Given the description of an element on the screen output the (x, y) to click on. 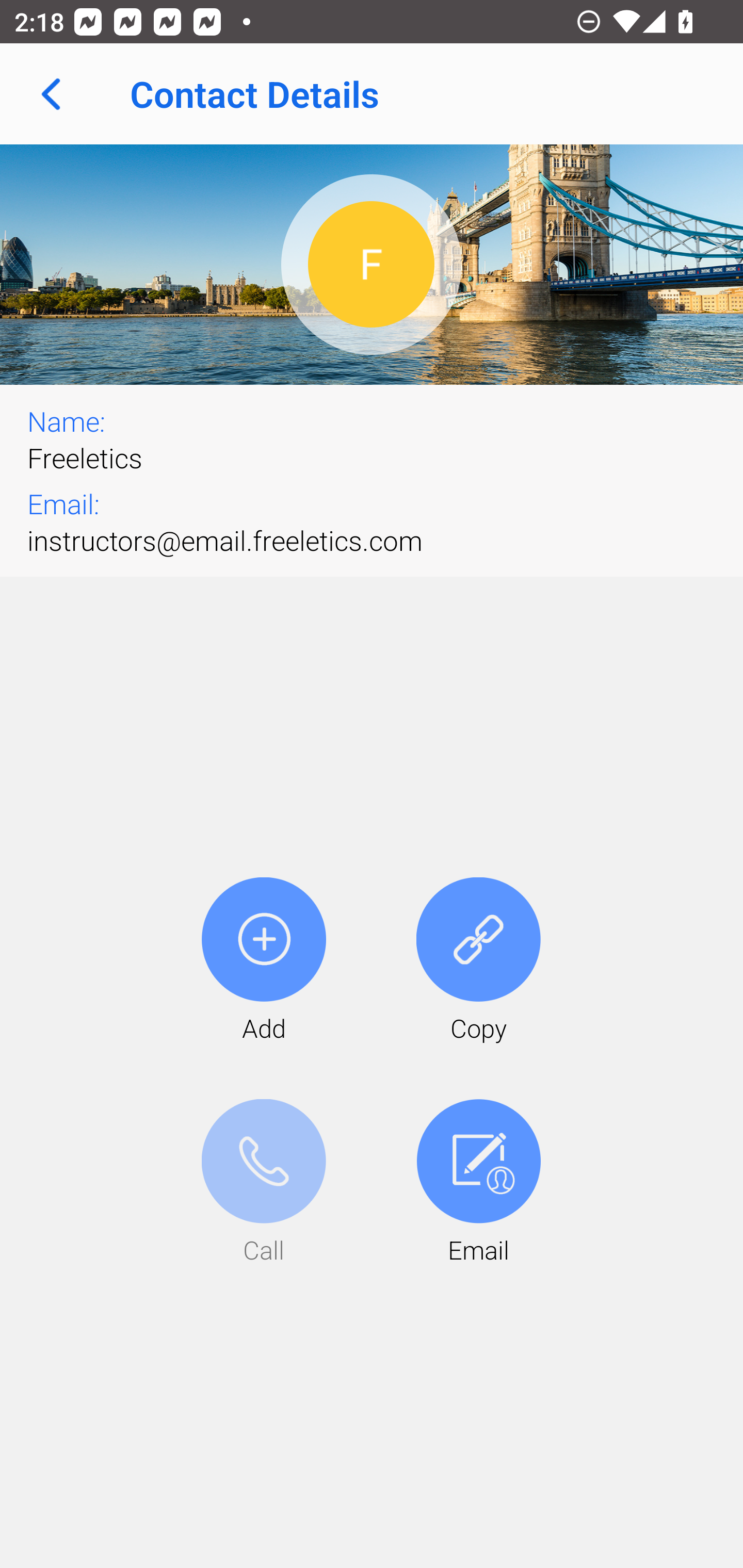
Navigate up (50, 93)
Add (264, 961)
Copy (478, 961)
Call (264, 1182)
Email (478, 1182)
